Given the description of an element on the screen output the (x, y) to click on. 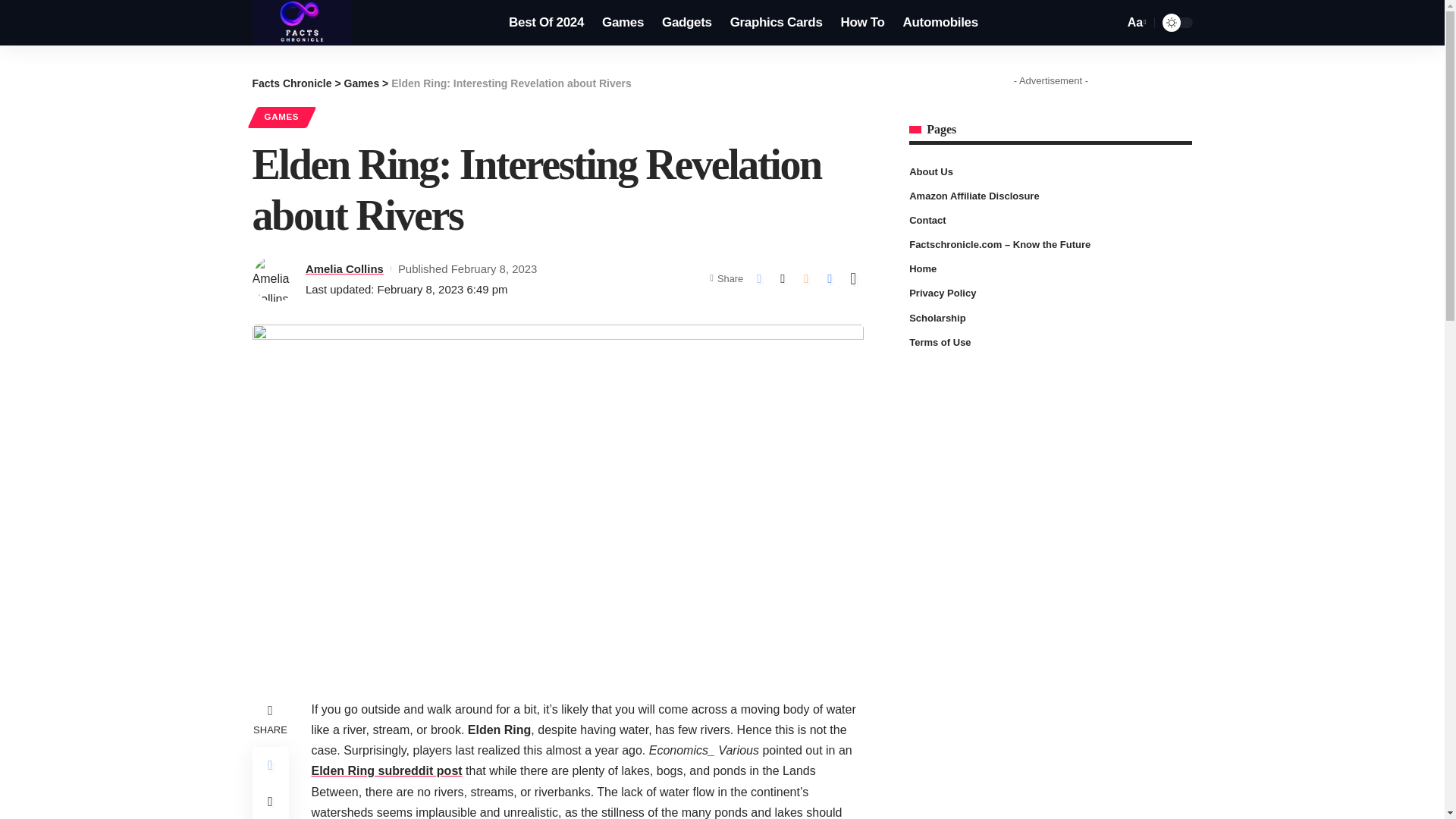
Games (622, 22)
Facts Chronicle (301, 22)
How To (862, 22)
Automobiles (940, 22)
Aa (1135, 22)
Games (361, 82)
Gadgets (686, 22)
Go to Facts Chronicle. (291, 82)
Go to the Games Category archives. (361, 82)
Amelia Collins (344, 268)
